Given the description of an element on the screen output the (x, y) to click on. 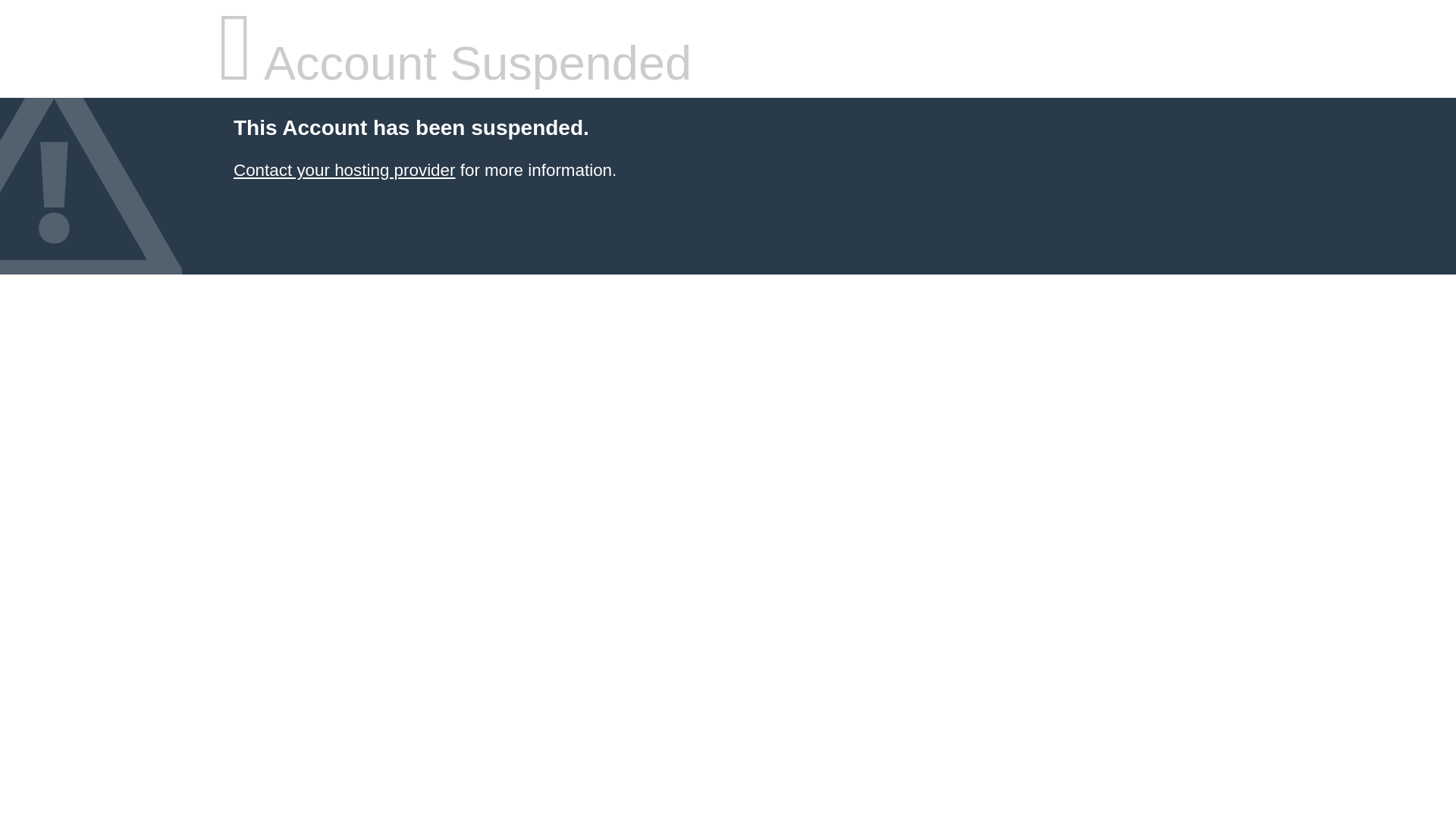
Contact your hosting provider (343, 169)
